Given the description of an element on the screen output the (x, y) to click on. 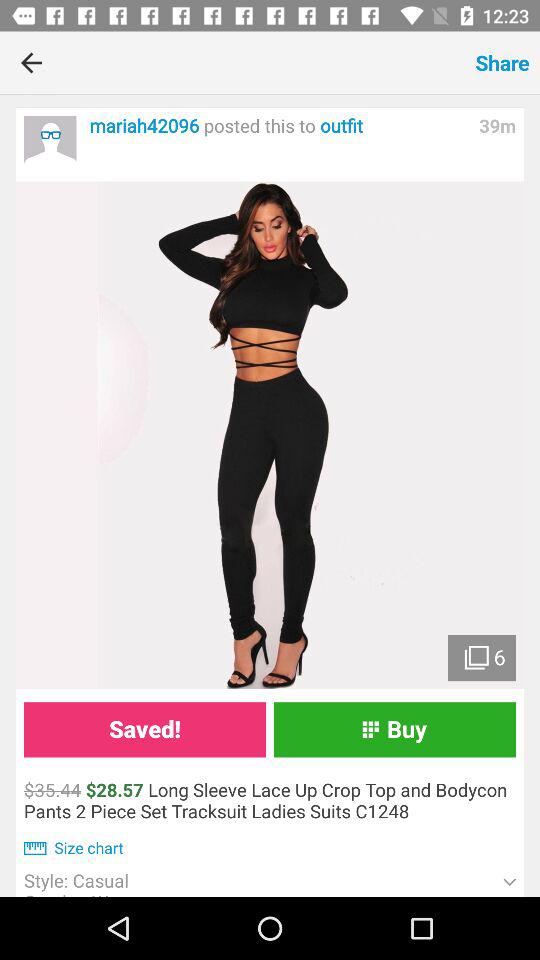
press the icon next to mariah42096 posted this (50, 141)
